Given the description of an element on the screen output the (x, y) to click on. 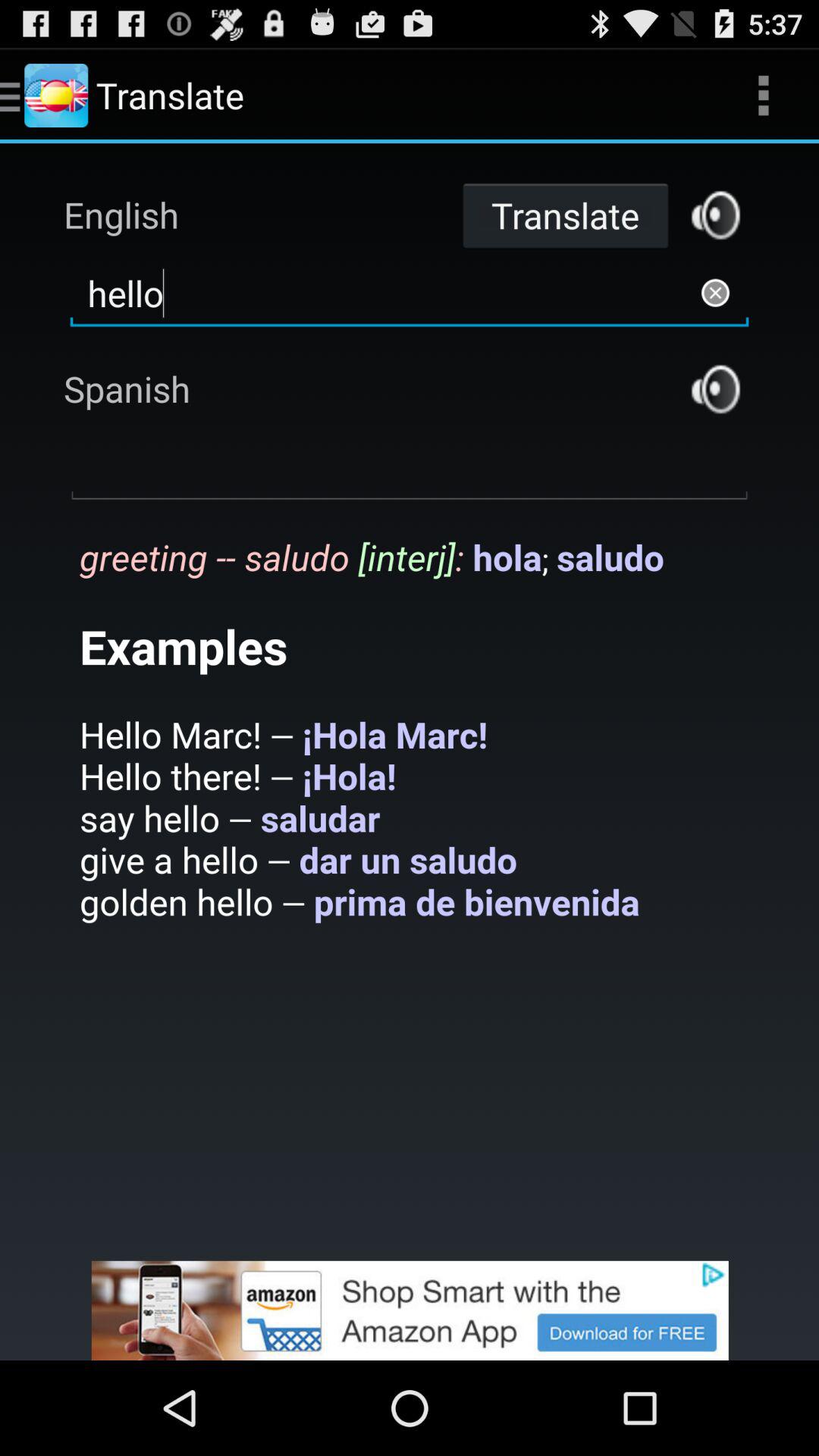
listen to translated audio (715, 388)
